Given the description of an element on the screen output the (x, y) to click on. 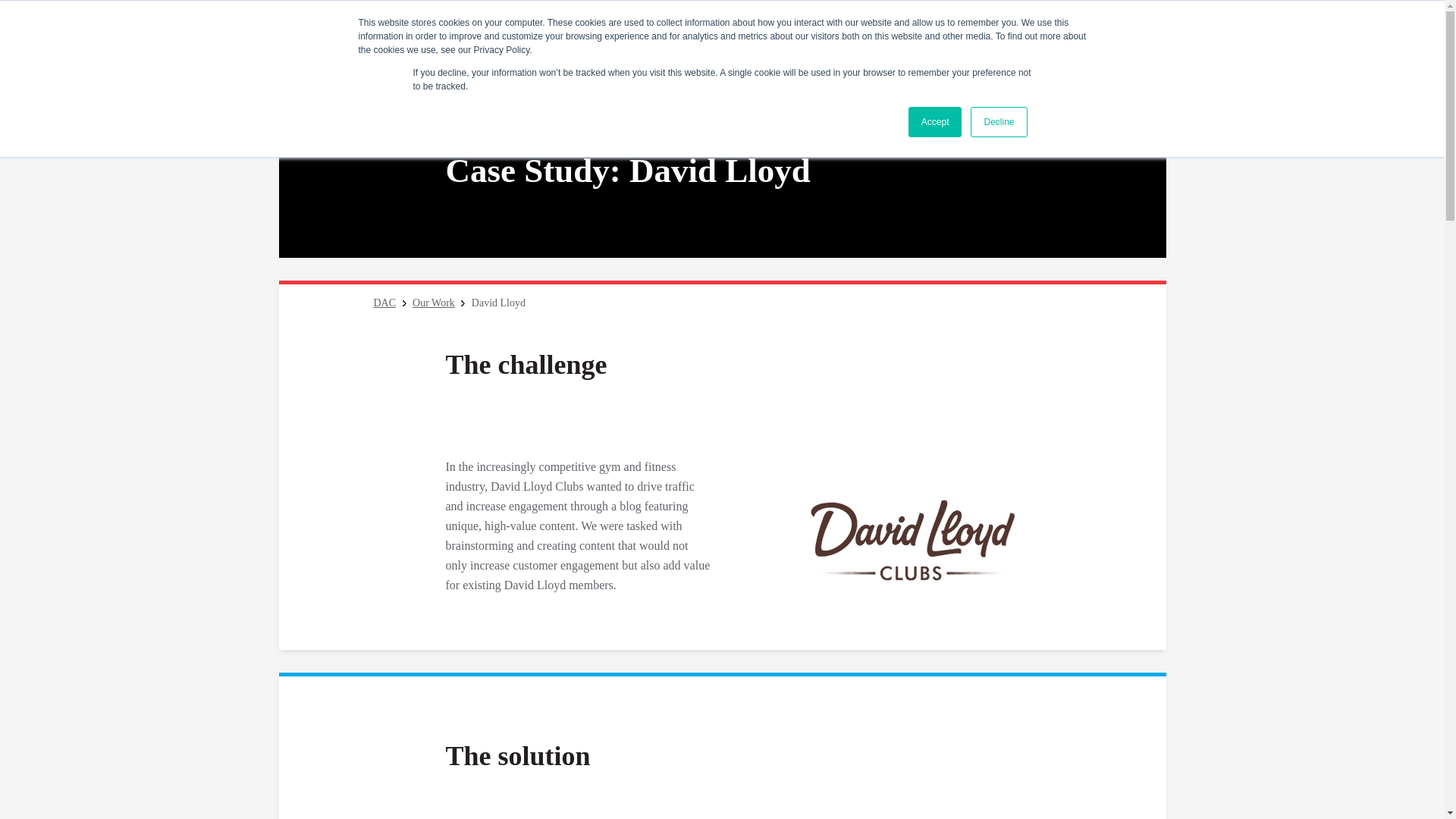
Accept (935, 122)
CAREERS (894, 24)
Work (708, 63)
Services (796, 63)
Careers (894, 24)
About Us (618, 63)
About Us (618, 63)
Decline (998, 122)
Services (796, 63)
CONTACT (962, 24)
Contact (962, 24)
Work (708, 63)
